Given the description of an element on the screen output the (x, y) to click on. 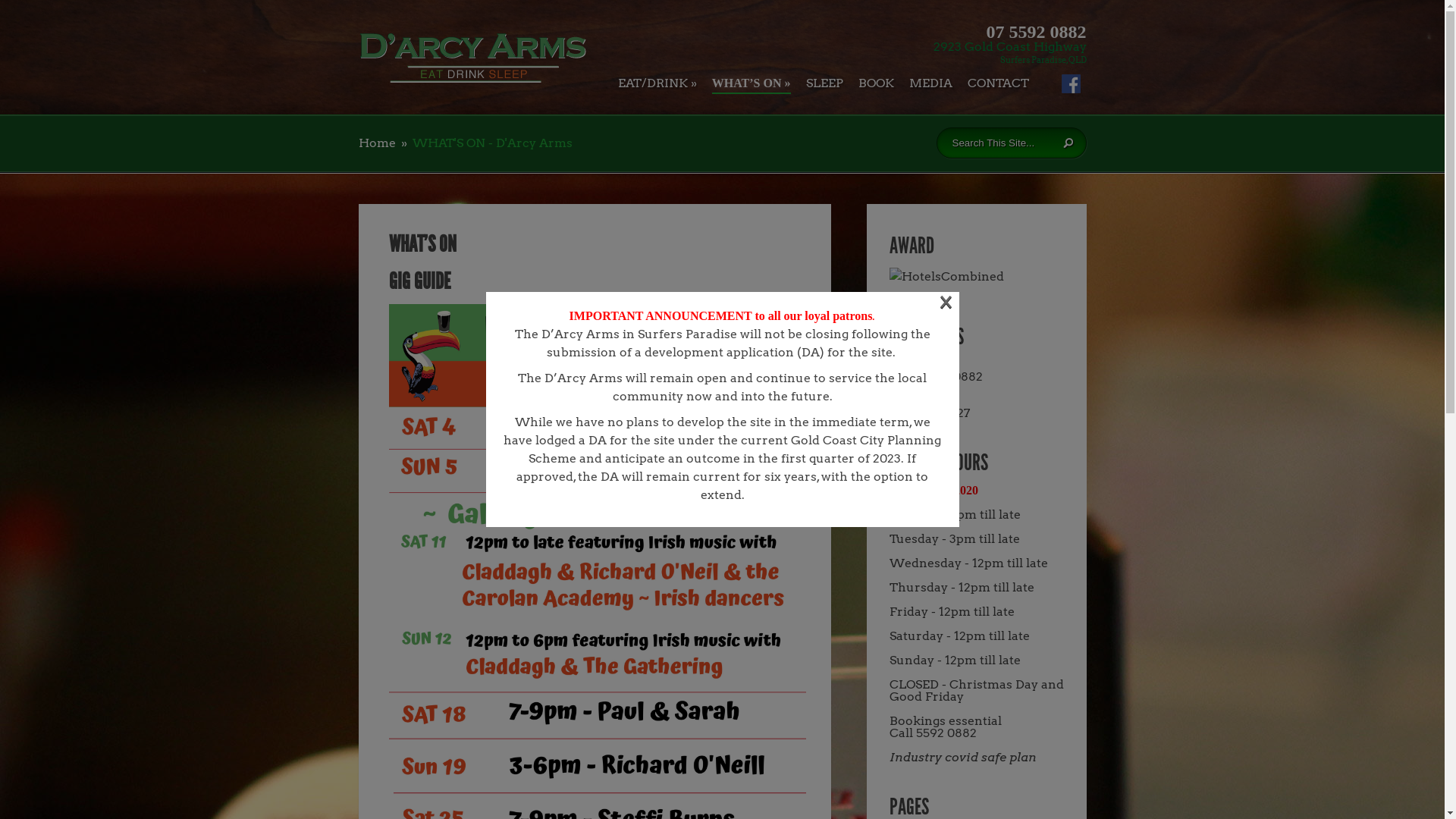
2923 Gold Coast Highway Element type: text (1008, 46)
Home Element type: text (376, 142)
Call 5592 0882 Element type: text (931, 732)
BOOK Element type: text (876, 86)
CONTACT Element type: text (998, 86)
SLEEP Element type: text (823, 86)
MEDIA Element type: text (929, 86)
07 5592 0882 Element type: text (1035, 31)
